Given the description of an element on the screen output the (x, y) to click on. 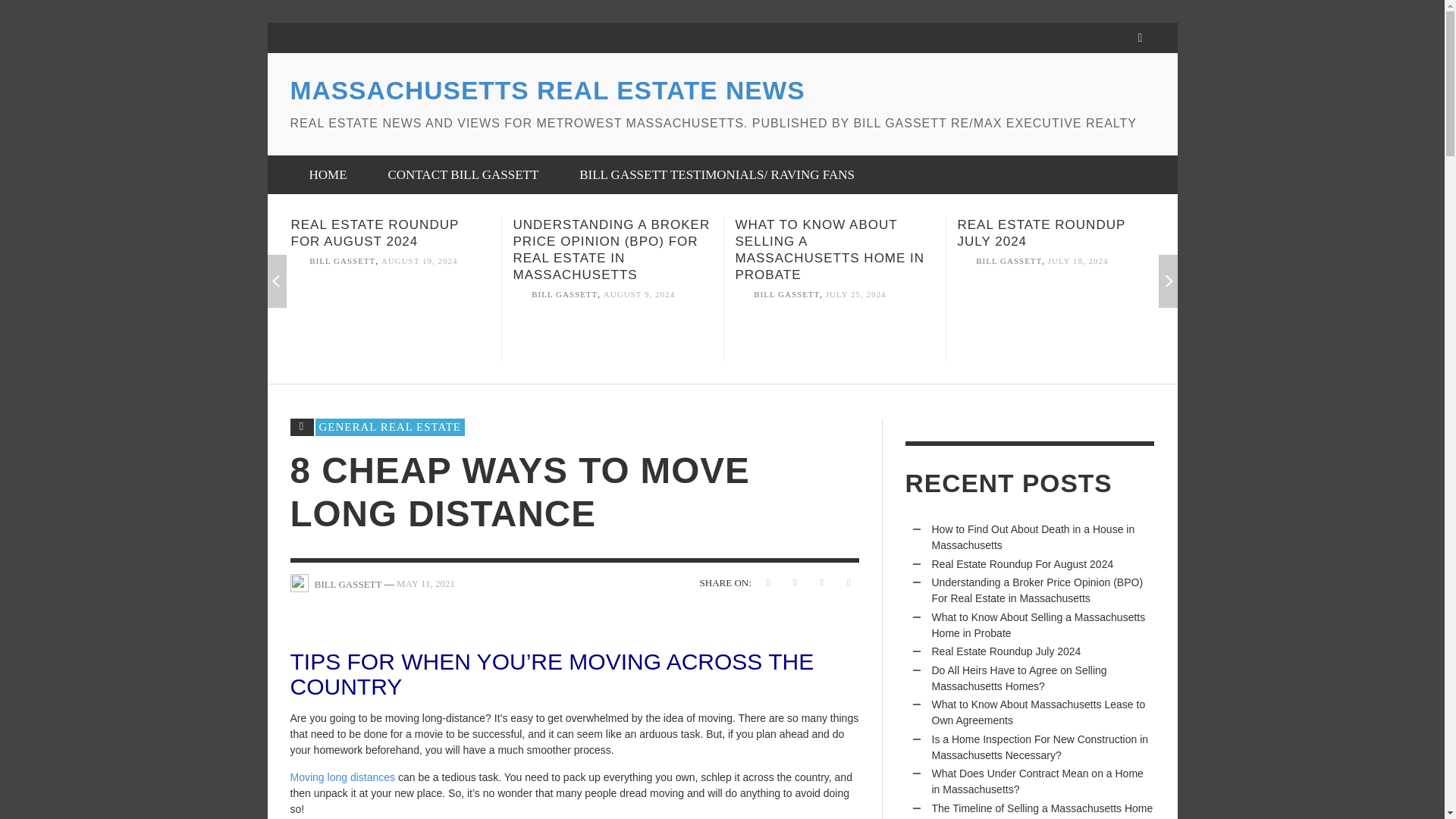
JULY 25, 2024 (855, 294)
Permalink to Real Estate Roundup July 2024 (1056, 319)
View all posts by Bill Gassett (341, 260)
HOME (327, 174)
BILL GASSETT (341, 260)
Permalink to Real Estate Roundup For August 2024 (374, 232)
WHAT TO KNOW ABOUT SELLING A MASSACHUSETTS HOME IN PROBATE (829, 249)
Permalink to Real Estate Roundup July 2024 (1040, 232)
BILL GASSETT (786, 294)
